Given the description of an element on the screen output the (x, y) to click on. 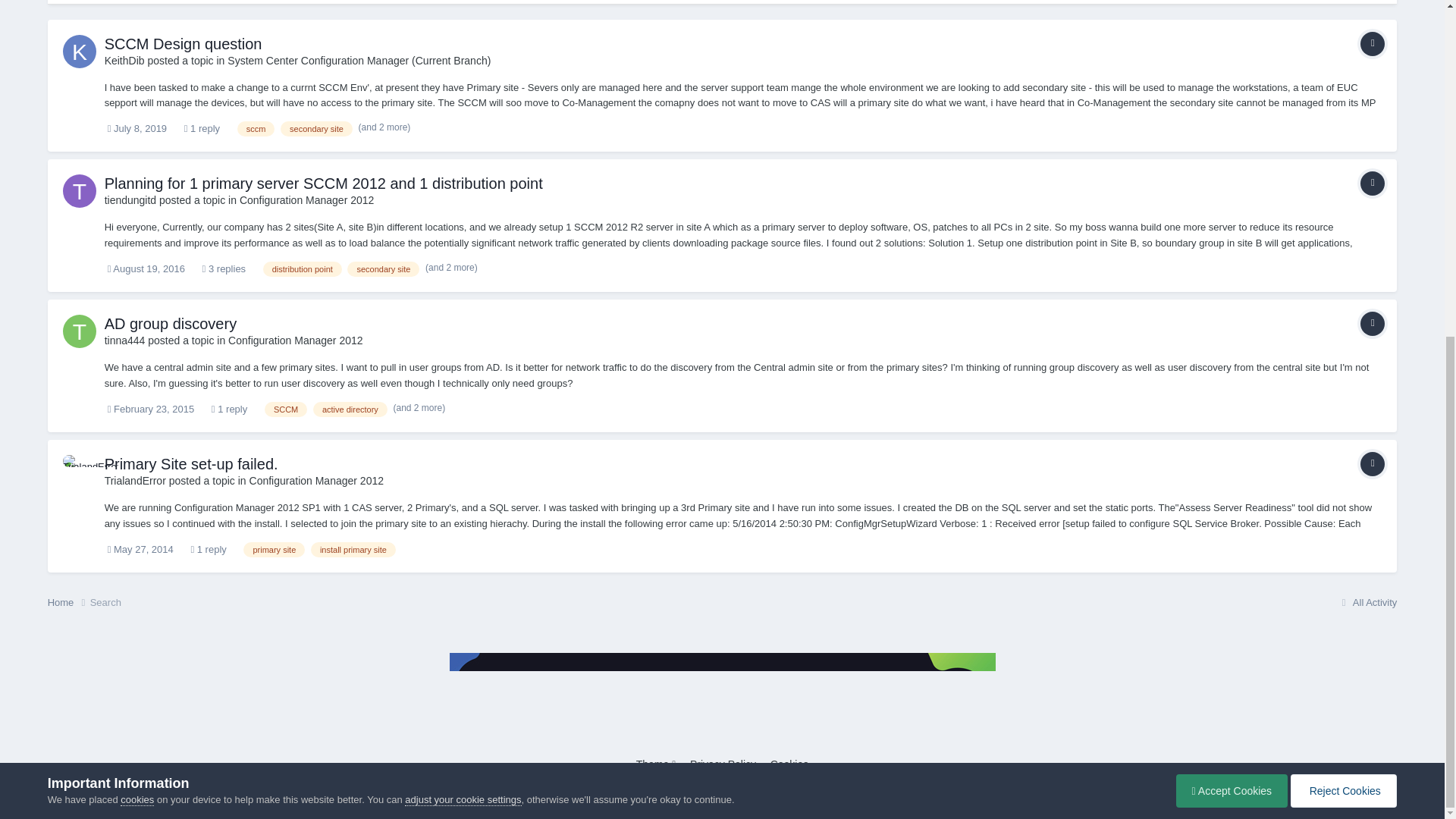
Topic (1371, 183)
Topic (1371, 43)
Find other content tagged with 'sccm' (256, 128)
Go to KeithDib's profile (124, 60)
Go to tiendungitd's profile (79, 191)
Find other content tagged with 'secondary site' (316, 128)
Go to tiendungitd's profile (130, 200)
Go to KeithDib's profile (79, 51)
Find other content tagged with 'distribution point' (302, 268)
Find other content tagged with 'secondary site' (383, 268)
